Given the description of an element on the screen output the (x, y) to click on. 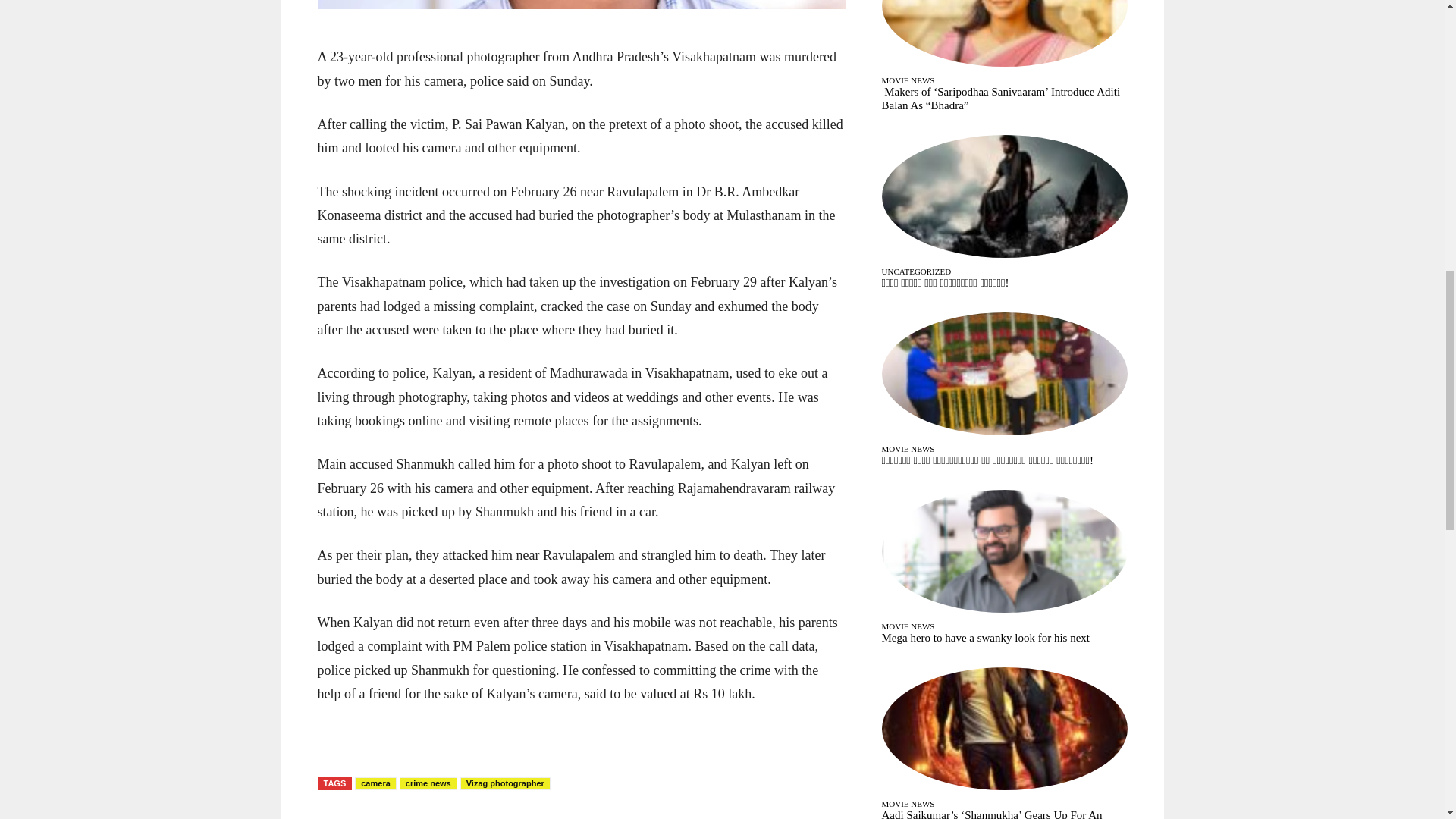
camera (375, 783)
